Given the description of an element on the screen output the (x, y) to click on. 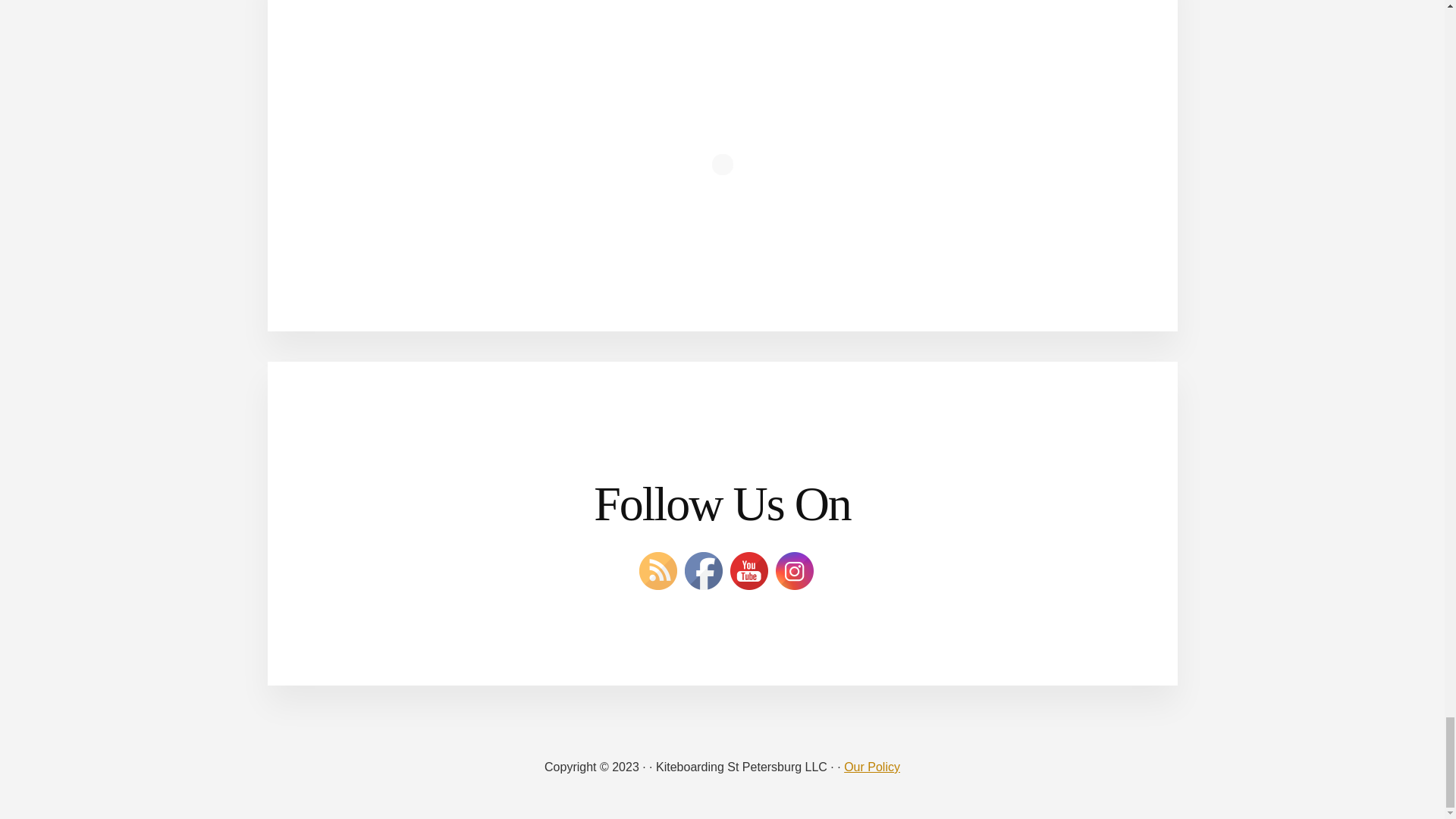
Facebook (703, 570)
YouTube (748, 570)
Instagram (793, 570)
RSS (658, 570)
